Given the description of an element on the screen output the (x, y) to click on. 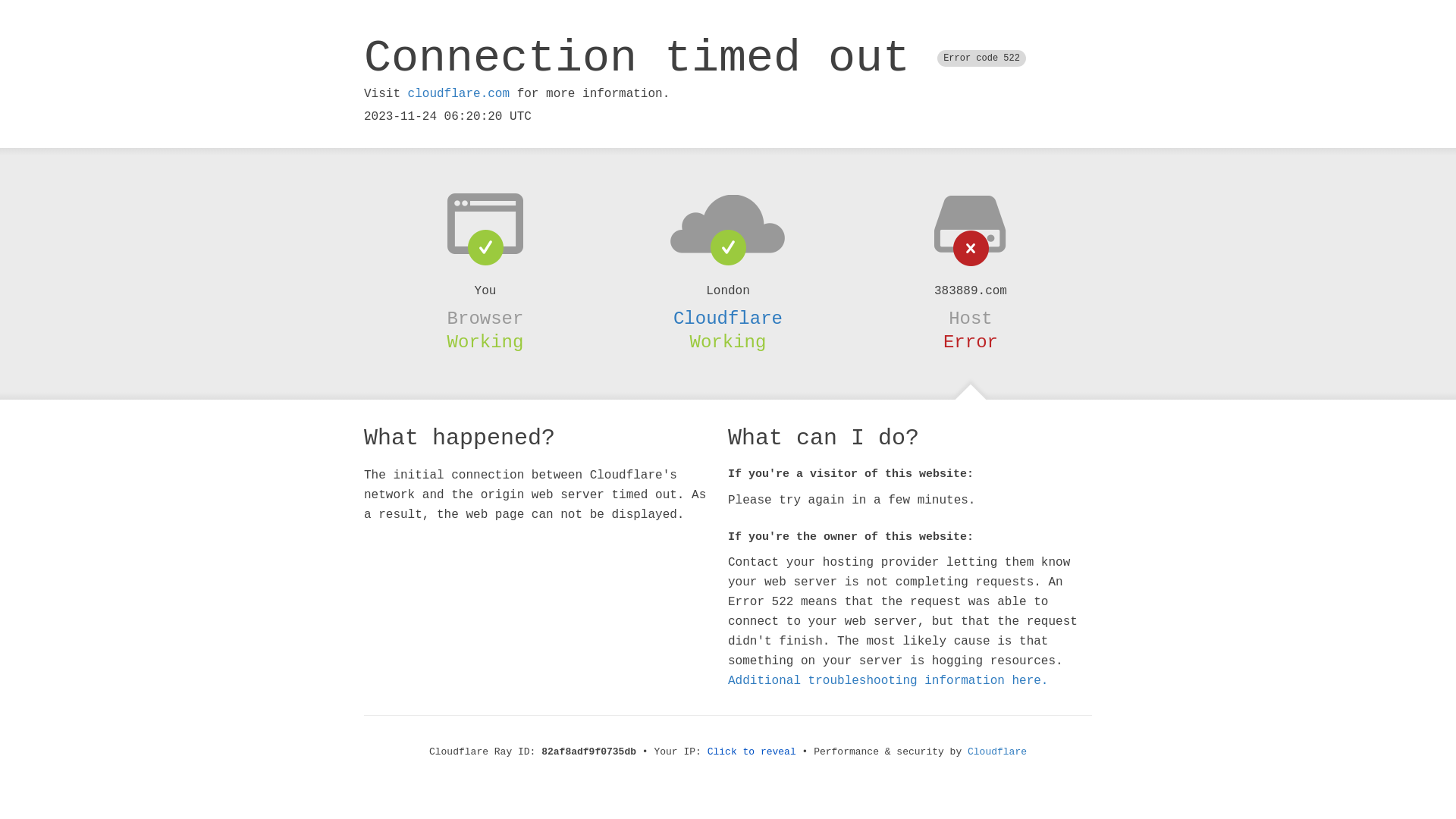
Cloudflare Element type: text (727, 318)
Additional troubleshooting information here. Element type: text (888, 680)
Cloudflare Element type: text (996, 751)
cloudflare.com Element type: text (458, 93)
Click to reveal Element type: text (751, 751)
